Given the description of an element on the screen output the (x, y) to click on. 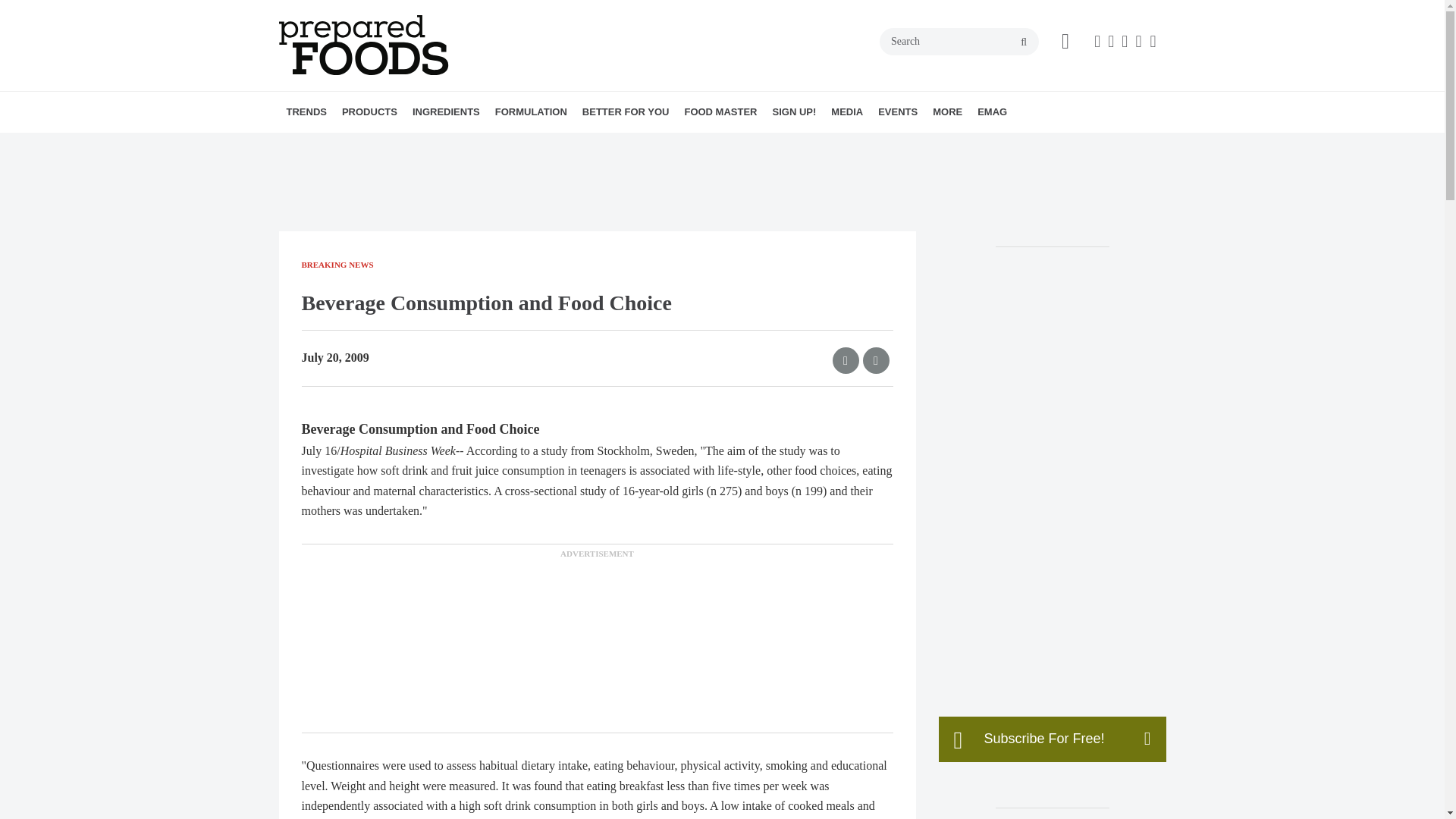
DAIRY (456, 145)
2023 TRENDS (380, 145)
INGREDIENTS (445, 111)
DIETARY FIBER (513, 145)
PRODUCTS (369, 111)
CANDY (448, 145)
CANNABIS (452, 145)
FEATURED PRODUCTS (474, 145)
BAKERY (429, 145)
Search (959, 41)
